Given the description of an element on the screen output the (x, y) to click on. 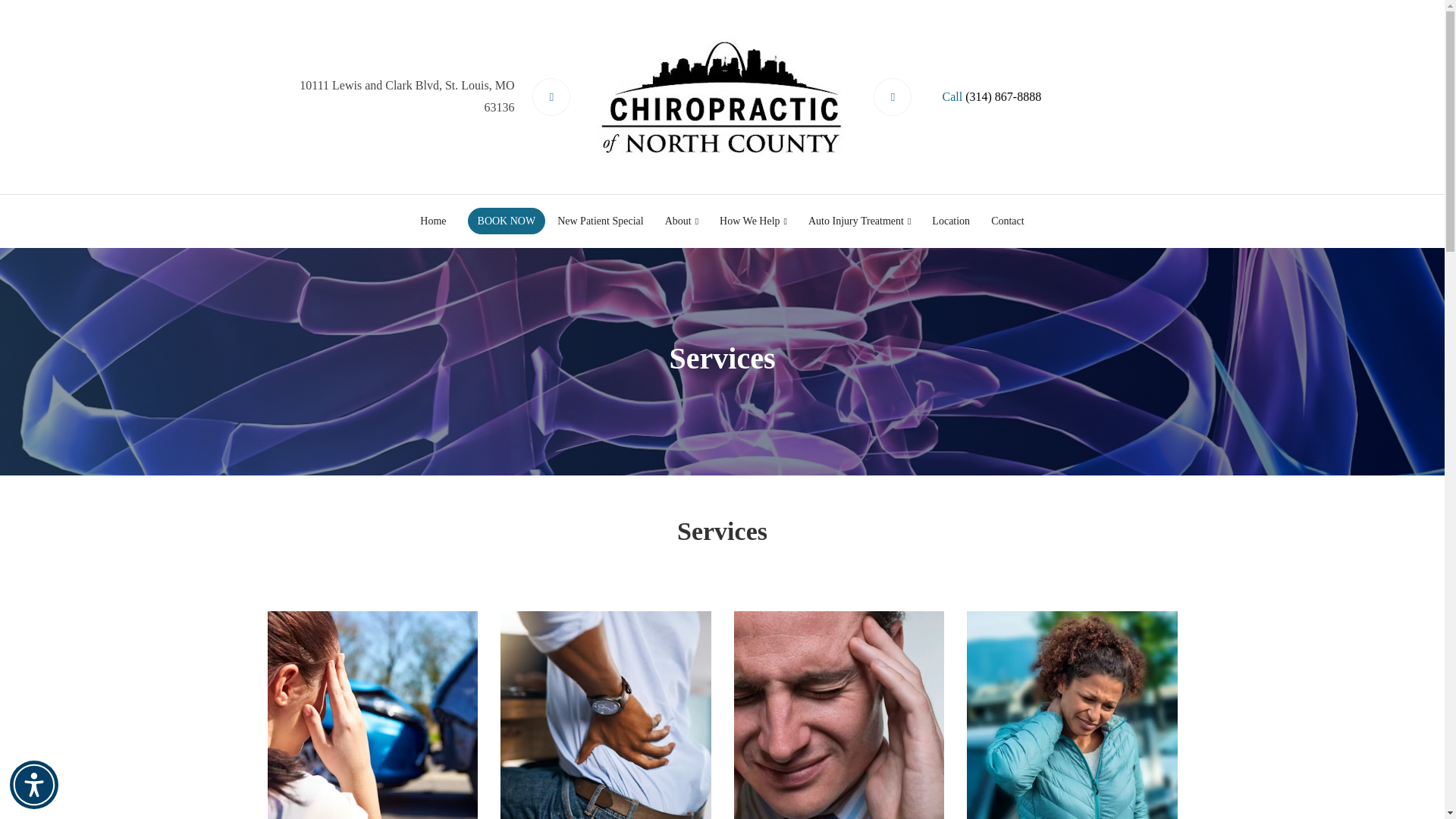
BOOK NOW (506, 221)
New Patient Special (600, 221)
Accessibility Menu (34, 784)
Home (432, 221)
About (681, 221)
How We Help (753, 221)
Auto Injury Treatment (859, 221)
